Given the description of an element on the screen output the (x, y) to click on. 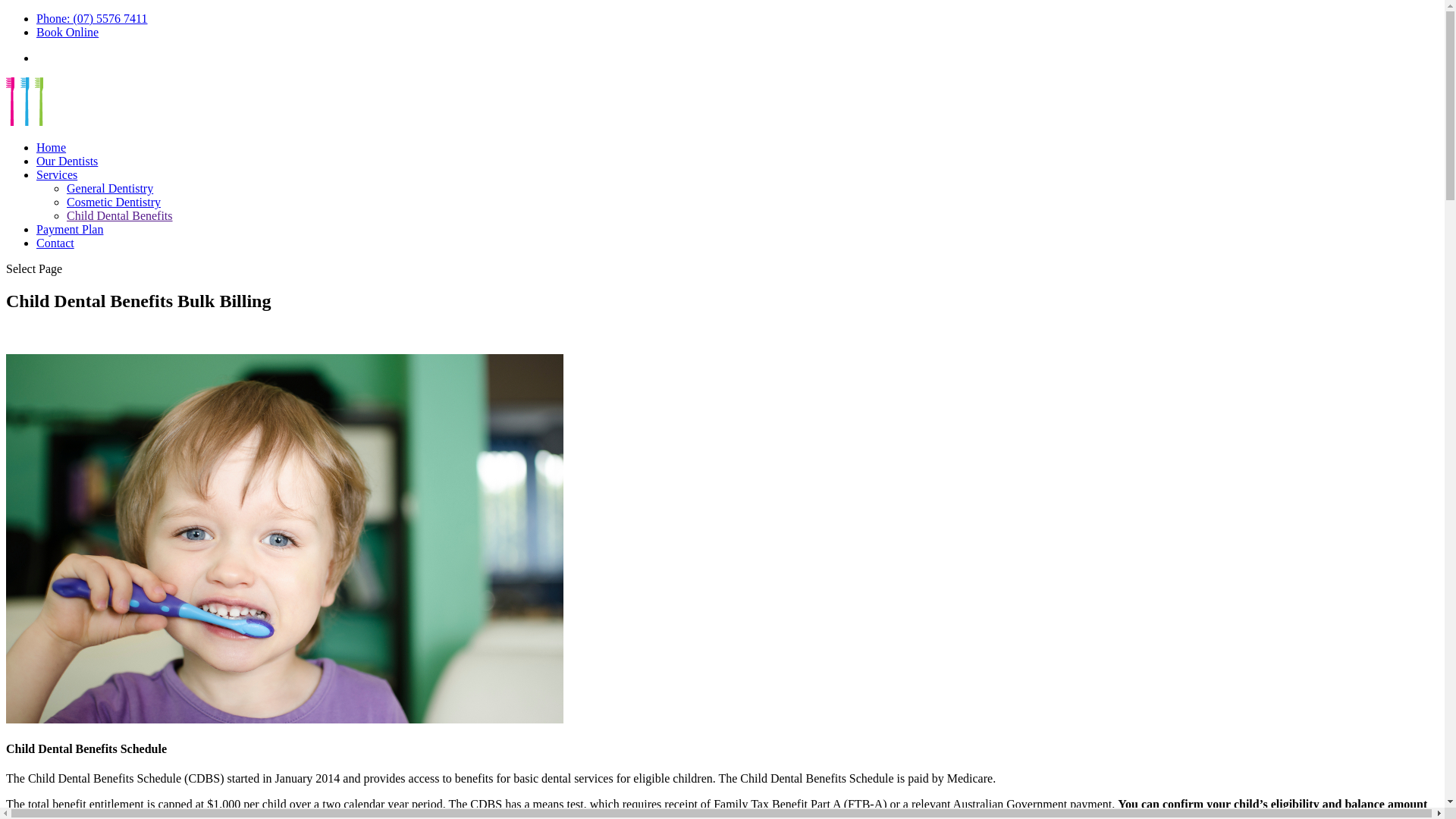
Payment Plan Element type: text (69, 228)
Our Dentists Element type: text (66, 160)
Contact Element type: text (55, 242)
Cosmetic Dentistry Element type: text (113, 201)
Home Element type: text (50, 147)
Services Element type: text (56, 174)
Child Dental Benefits Element type: text (119, 215)
Book Online Element type: text (67, 31)
Phone: (07) 5576 7411 Element type: text (91, 18)
General Dentistry Element type: text (109, 188)
